Given the description of an element on the screen output the (x, y) to click on. 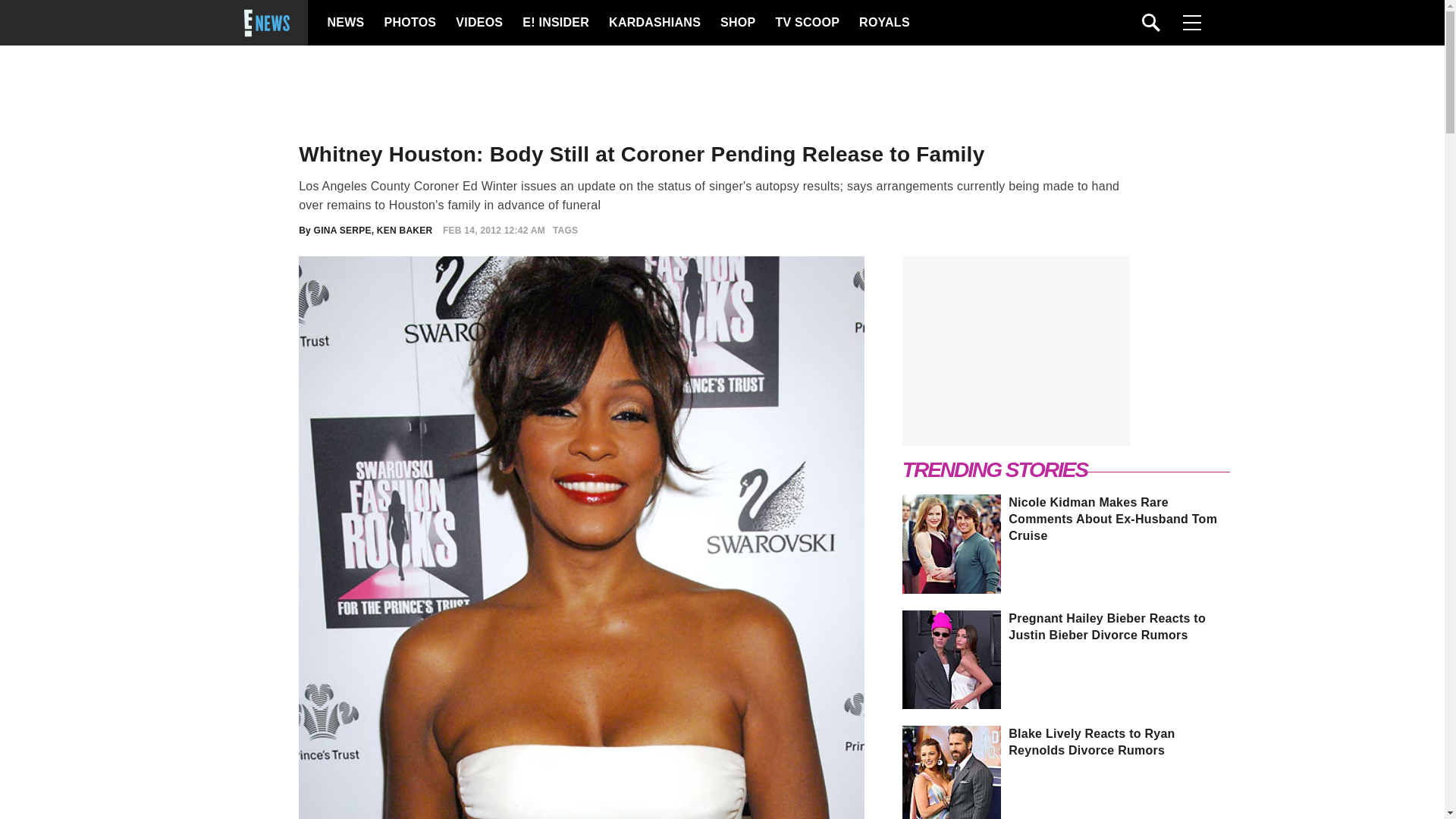
KARDASHIANS (653, 22)
TV SCOOP (806, 22)
NEWS (345, 22)
GINA SERPE (342, 230)
SHOP (737, 22)
ROYALS (883, 22)
E! INSIDER (555, 22)
VIDEOS (478, 22)
Blake Lively Reacts to Ryan Reynolds Divorce Rumors (1066, 742)
PHOTOS (408, 22)
KEN BAKER (404, 230)
